Given the description of an element on the screen output the (x, y) to click on. 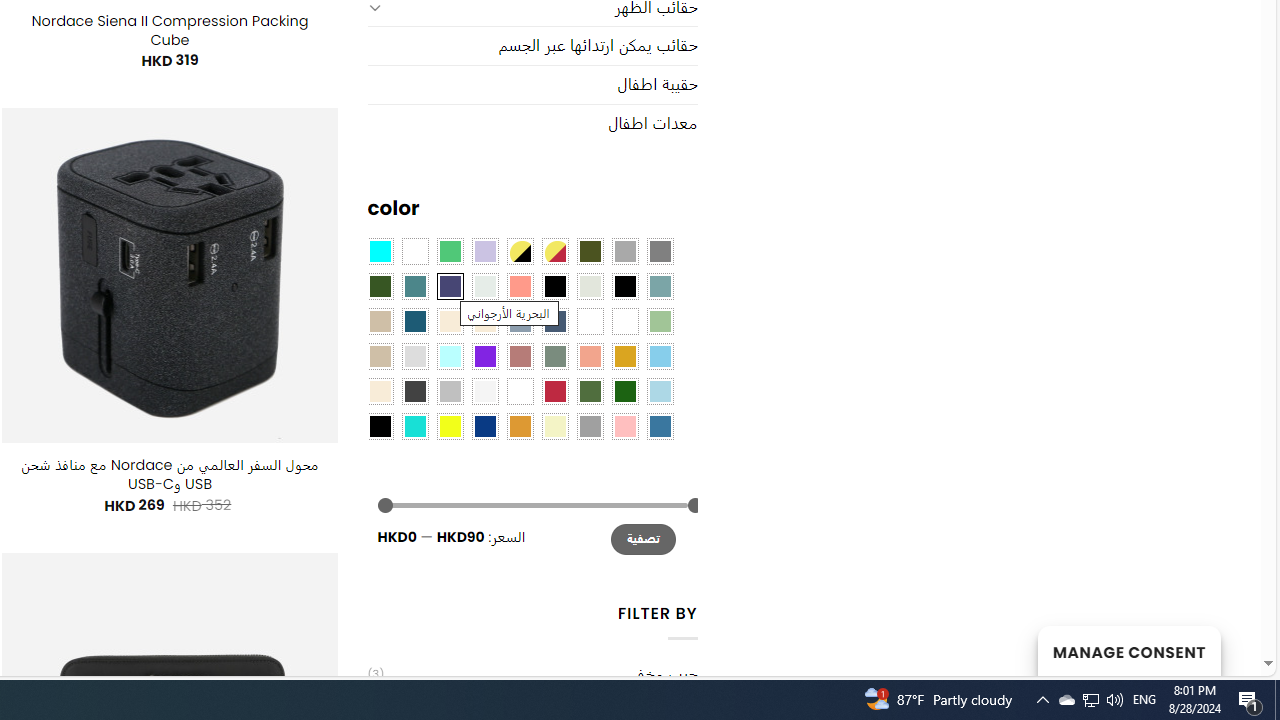
Kelp (589, 321)
Cream (484, 321)
